Given the description of an element on the screen output the (x, y) to click on. 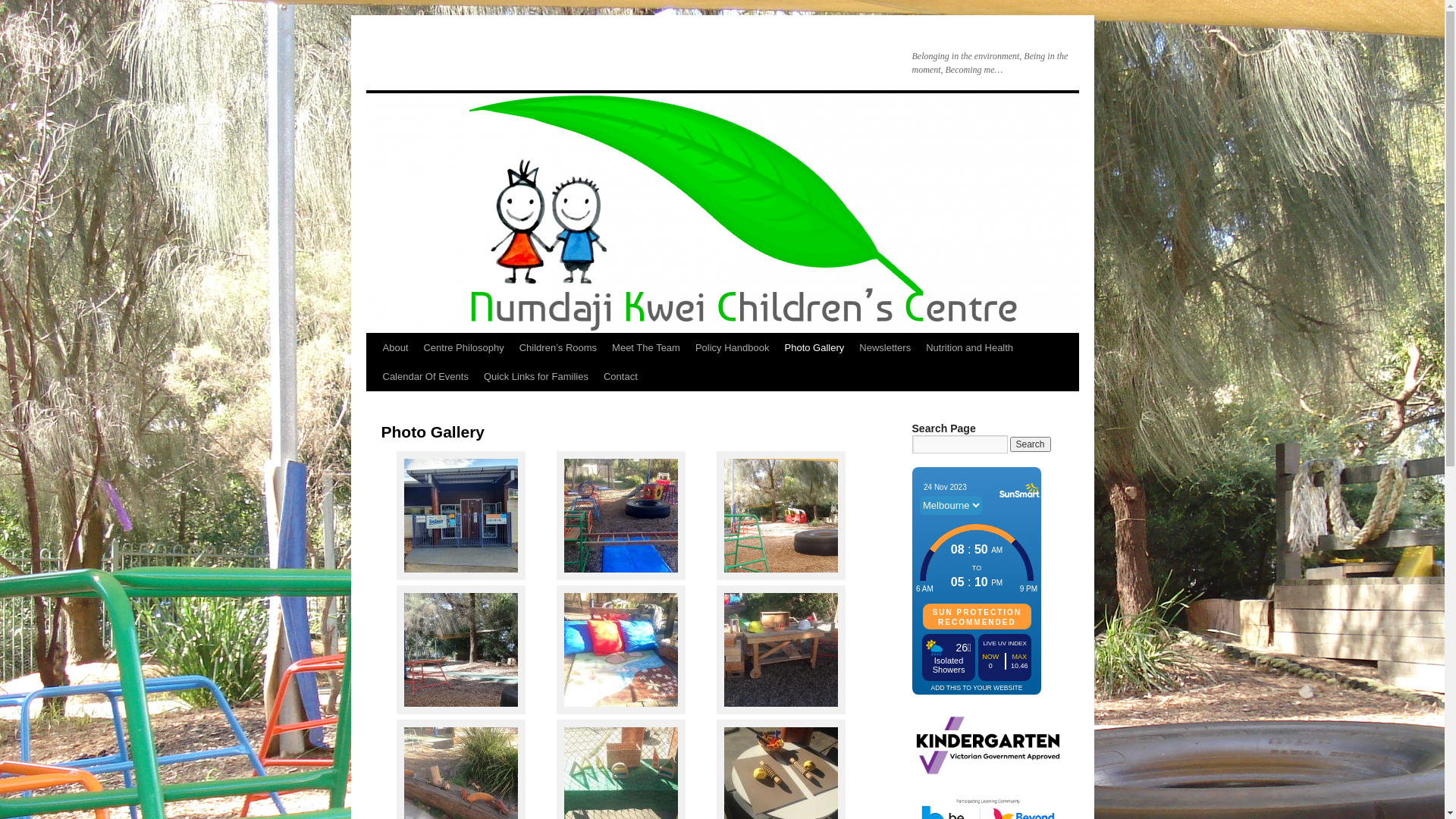
Contact Element type: text (620, 376)
Calendar Of Events Element type: text (424, 376)
About Element type: text (394, 347)
Newsletters Element type: text (884, 347)
Meet The Team Element type: text (645, 347)
Search Element type: text (1030, 443)
Nutrition and Health Element type: text (969, 347)
Quick Links for Families Element type: text (536, 376)
Photo Gallery Element type: text (813, 347)
Skip to content Element type: text (372, 375)
Centre Philosophy Element type: text (463, 347)
Policy Handbook Element type: text (732, 347)
